Given the description of an element on the screen output the (x, y) to click on. 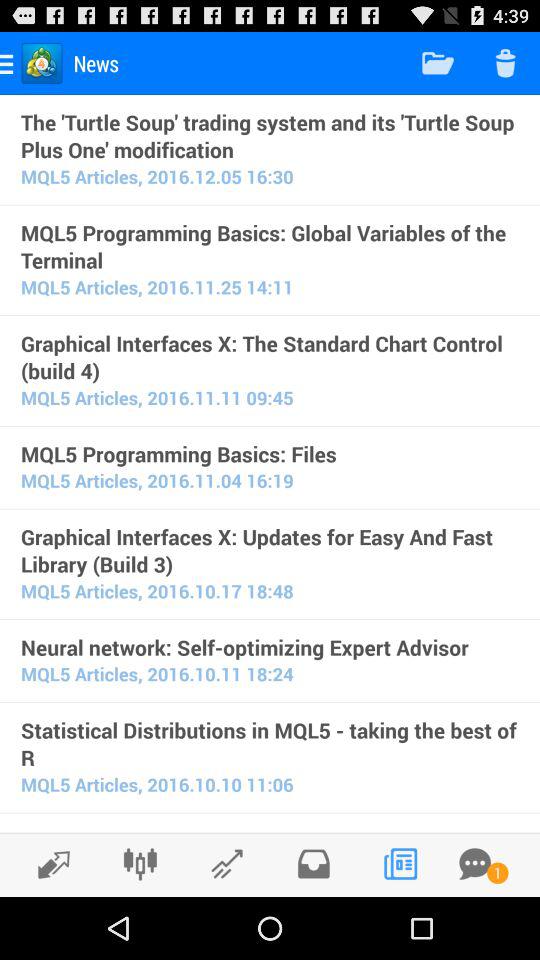
go to inbox (313, 863)
